Given the description of an element on the screen output the (x, y) to click on. 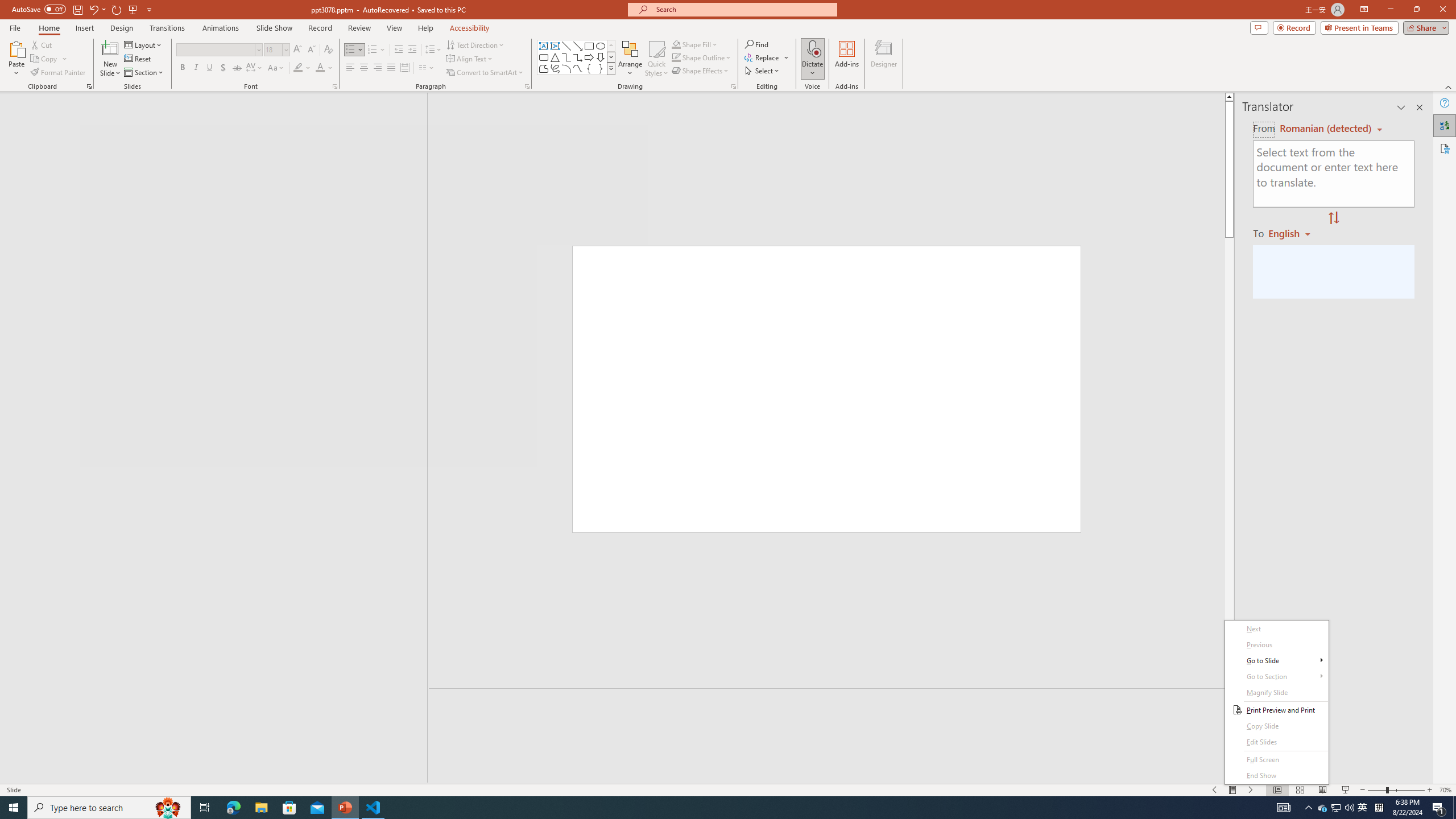
Format Object... (733, 85)
Search highlights icon opens search home window (167, 807)
Font Color Red (320, 67)
Office Clipboard... (88, 85)
Center (363, 67)
Arrow: Down (600, 57)
Underline (209, 67)
Tray Input Indicator - Chinese (Simplified, China) (1378, 807)
Romanian (1293, 232)
Class: NetUIImage (610, 68)
Copy (45, 58)
